Given the description of an element on the screen output the (x, y) to click on. 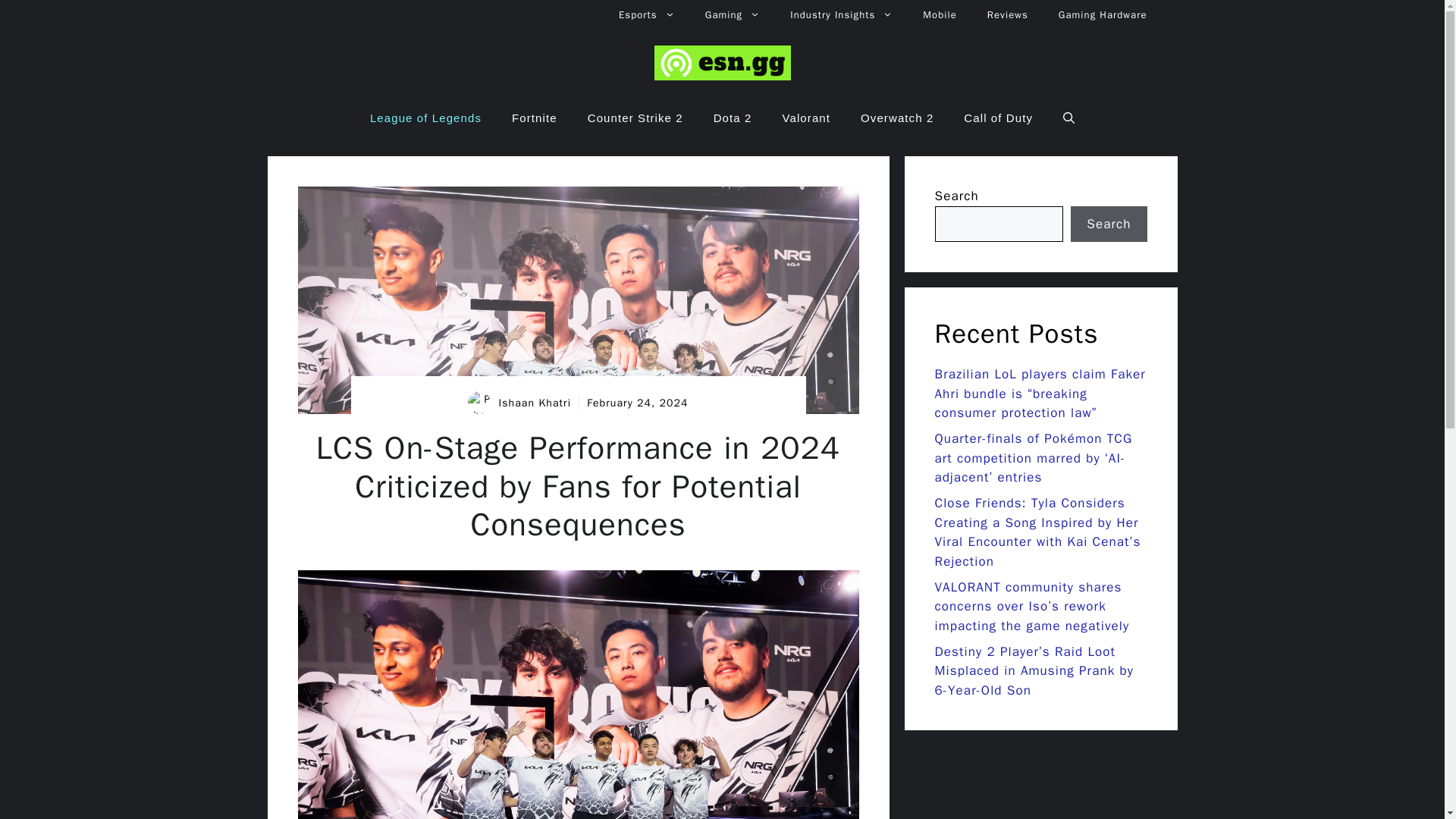
Reviews (1007, 15)
Dota 2 (732, 117)
Counter Strike 2 (635, 117)
Overwatch 2 (897, 117)
Gaming Hardware (1102, 15)
Mobile (939, 15)
Esports (647, 15)
Fortnite (534, 117)
Valorant (806, 117)
League of Legends (425, 117)
Ishaan Khatri (533, 402)
Gaming (732, 15)
Industry Insights (840, 15)
Call of Duty (998, 117)
